Given the description of an element on the screen output the (x, y) to click on. 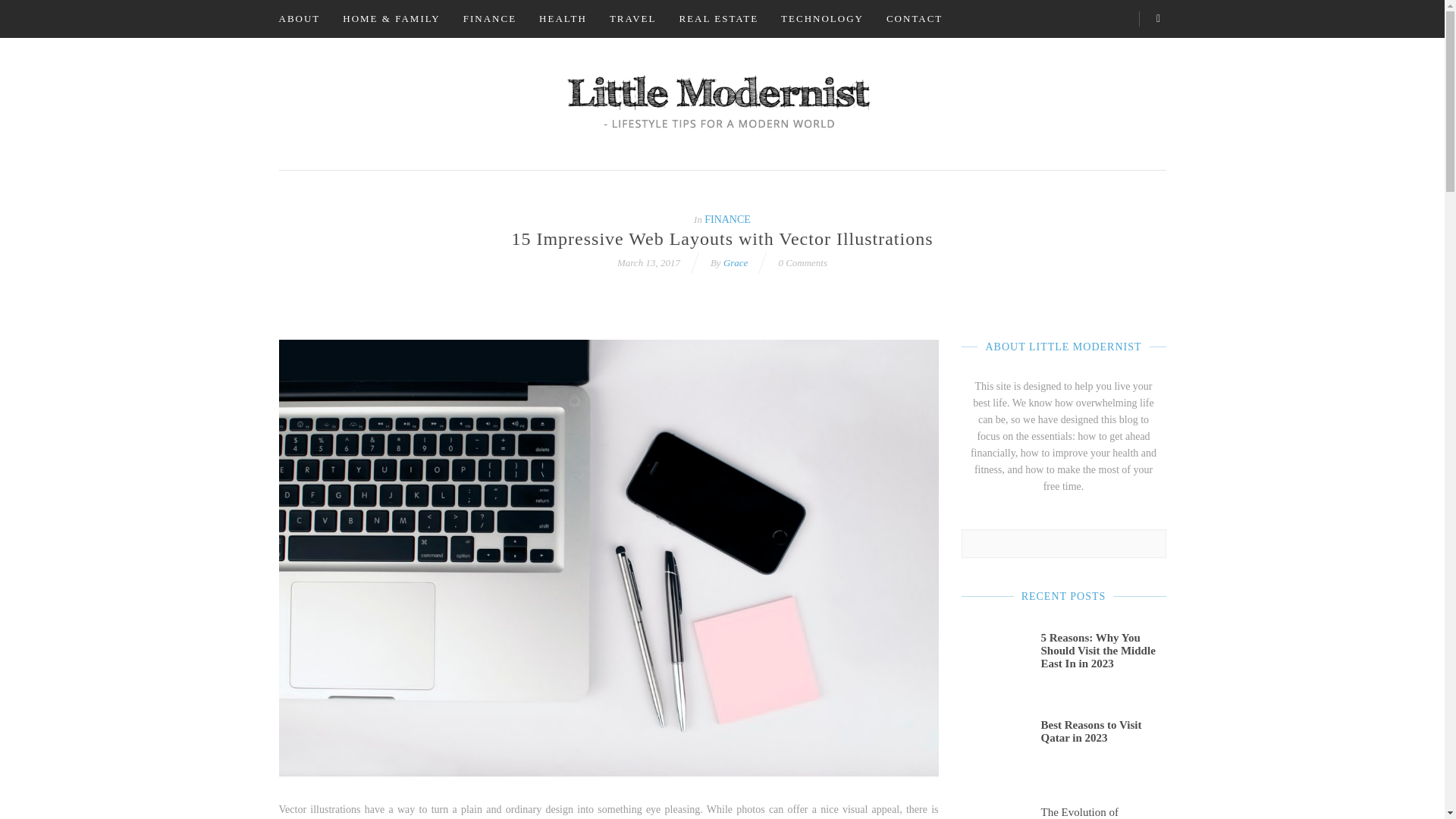
TECHNOLOGY (822, 18)
HEALTH (562, 18)
FINANCE (489, 18)
REAL ESTATE (718, 18)
CONTACT (914, 18)
TRAVEL (633, 18)
FINANCE (727, 219)
ABOUT (298, 18)
